Given the description of an element on the screen output the (x, y) to click on. 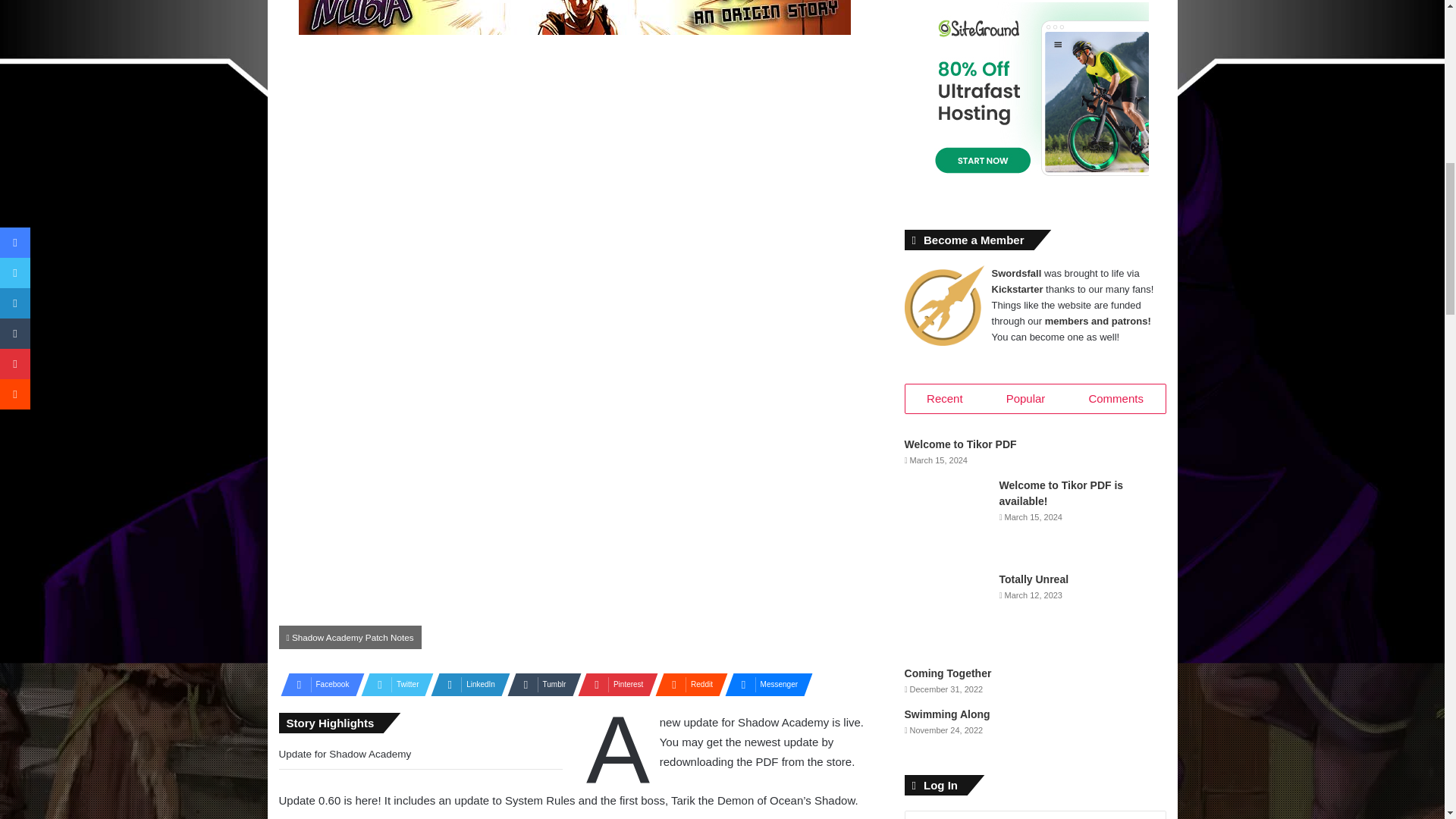
LinkedIn (465, 684)
Twitter (393, 684)
Reddit (687, 684)
Facebook (318, 684)
Tumblr (539, 684)
Pinterest (613, 684)
